Given the description of an element on the screen output the (x, y) to click on. 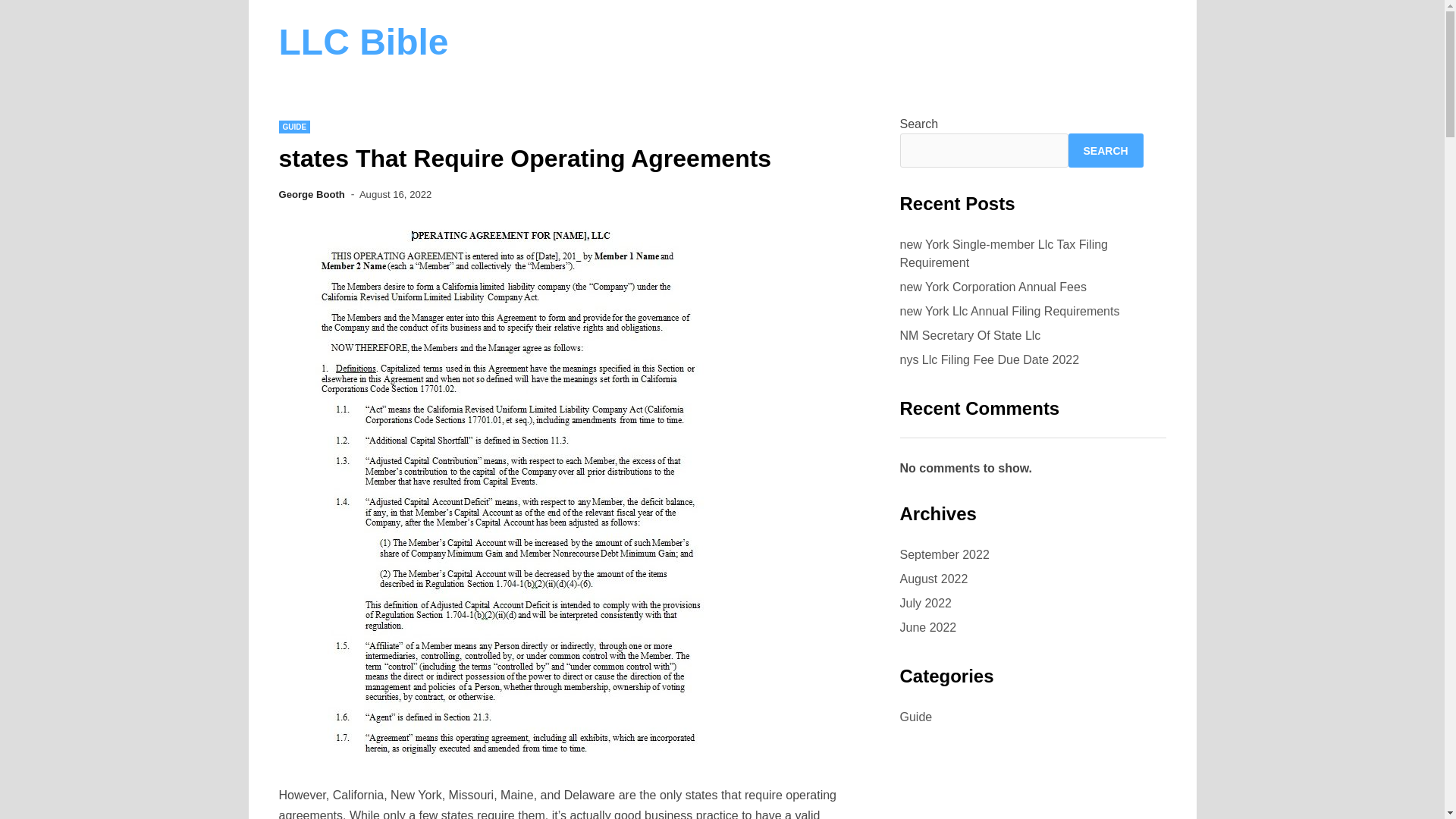
GUIDE (295, 126)
new York Single-member Llc Tax Filing Requirement (1003, 253)
George Booth (312, 194)
LLC Bible (363, 42)
August 16, 2022 (394, 194)
SEARCH (1104, 150)
